Given the description of an element on the screen output the (x, y) to click on. 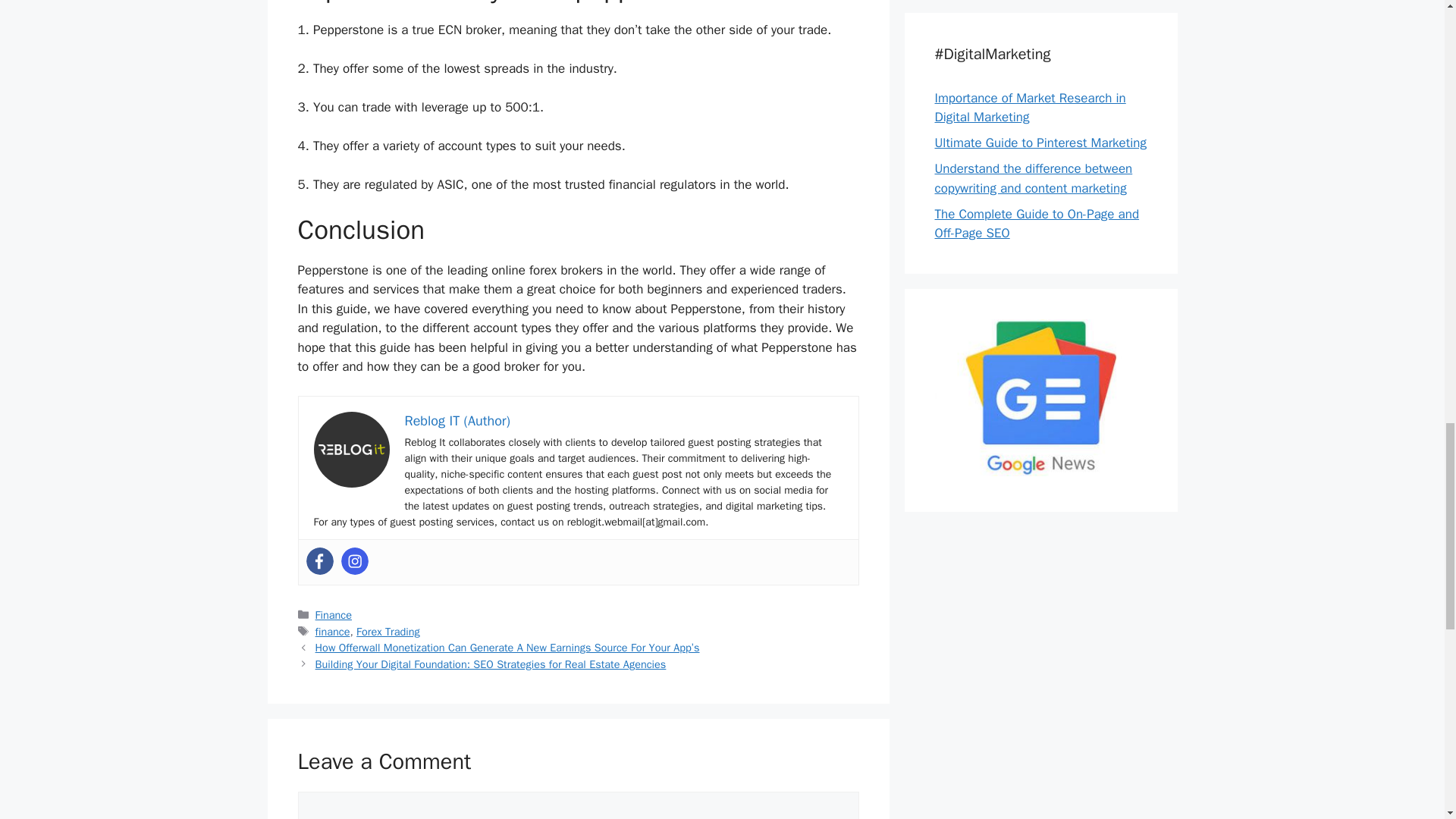
Google News Approved (1040, 471)
Finance (333, 614)
finance (332, 631)
Forex Trading (388, 631)
Instagram (354, 560)
Facebook (319, 560)
